Given the description of an element on the screen output the (x, y) to click on. 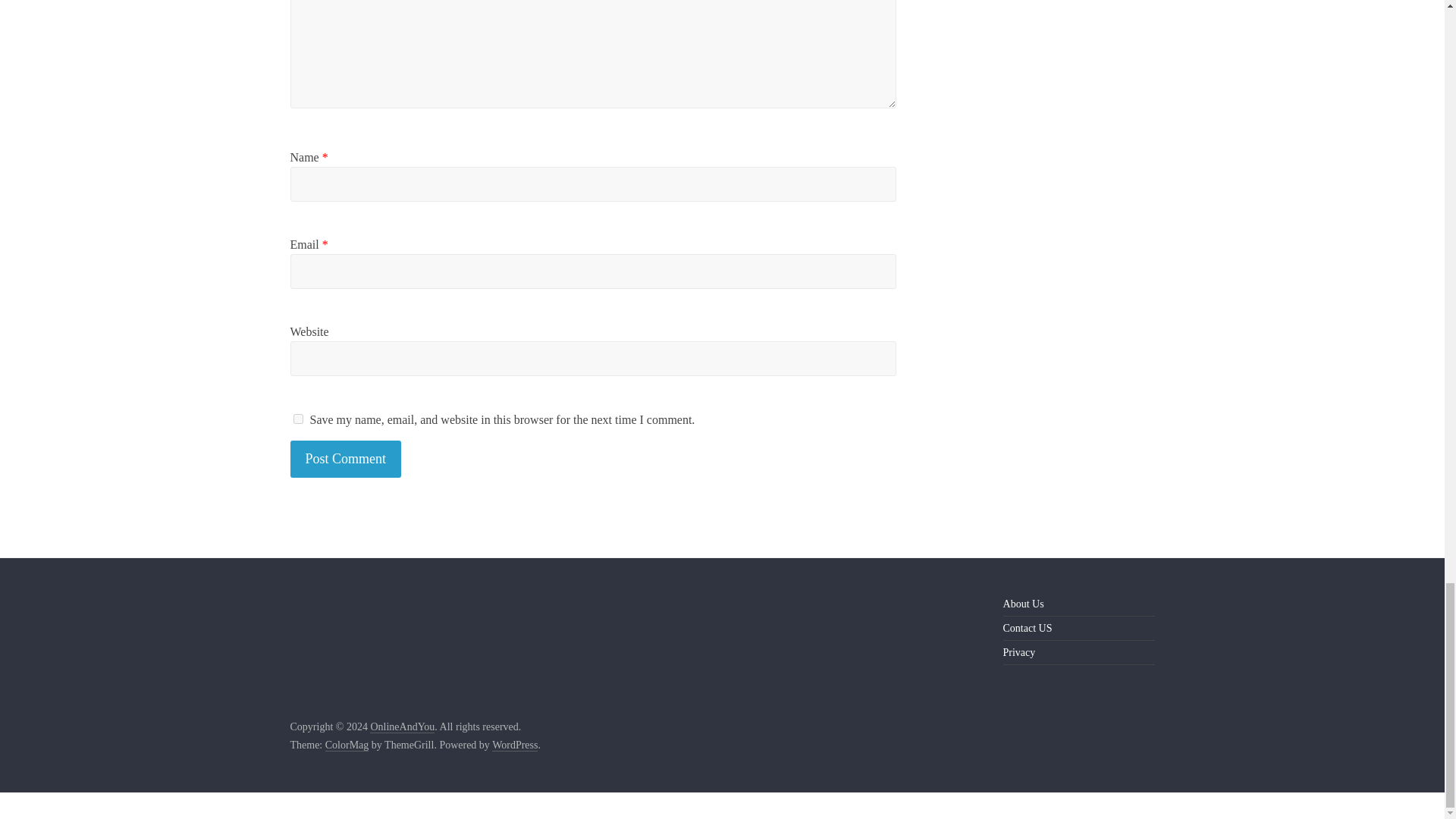
Post Comment (345, 458)
yes (297, 419)
